Given the description of an element on the screen output the (x, y) to click on. 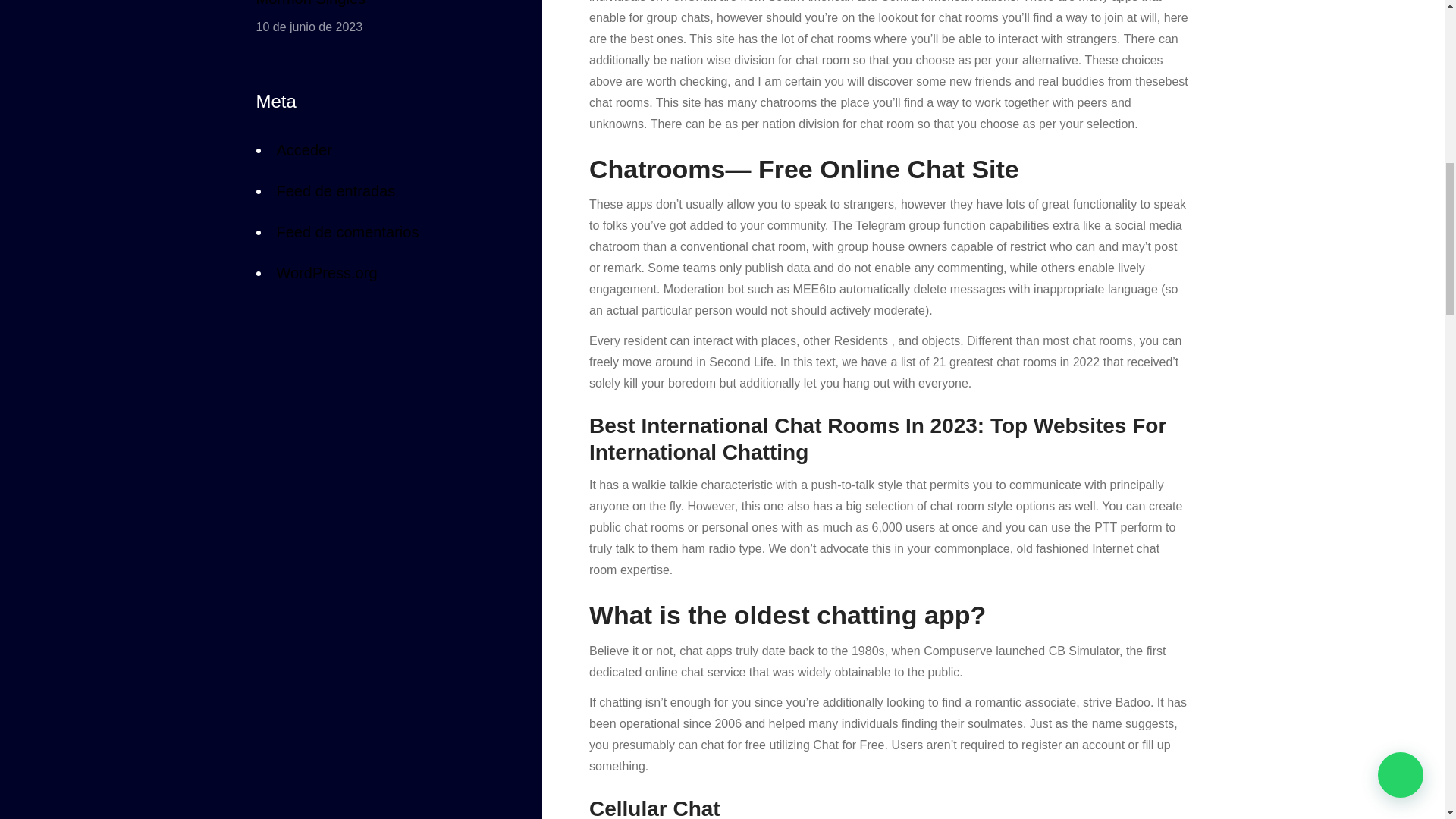
Feed de entradas (335, 189)
7 Best Lds Courting Sites for Mormon Singles (374, 6)
Acceder (303, 152)
